Given the description of an element on the screen output the (x, y) to click on. 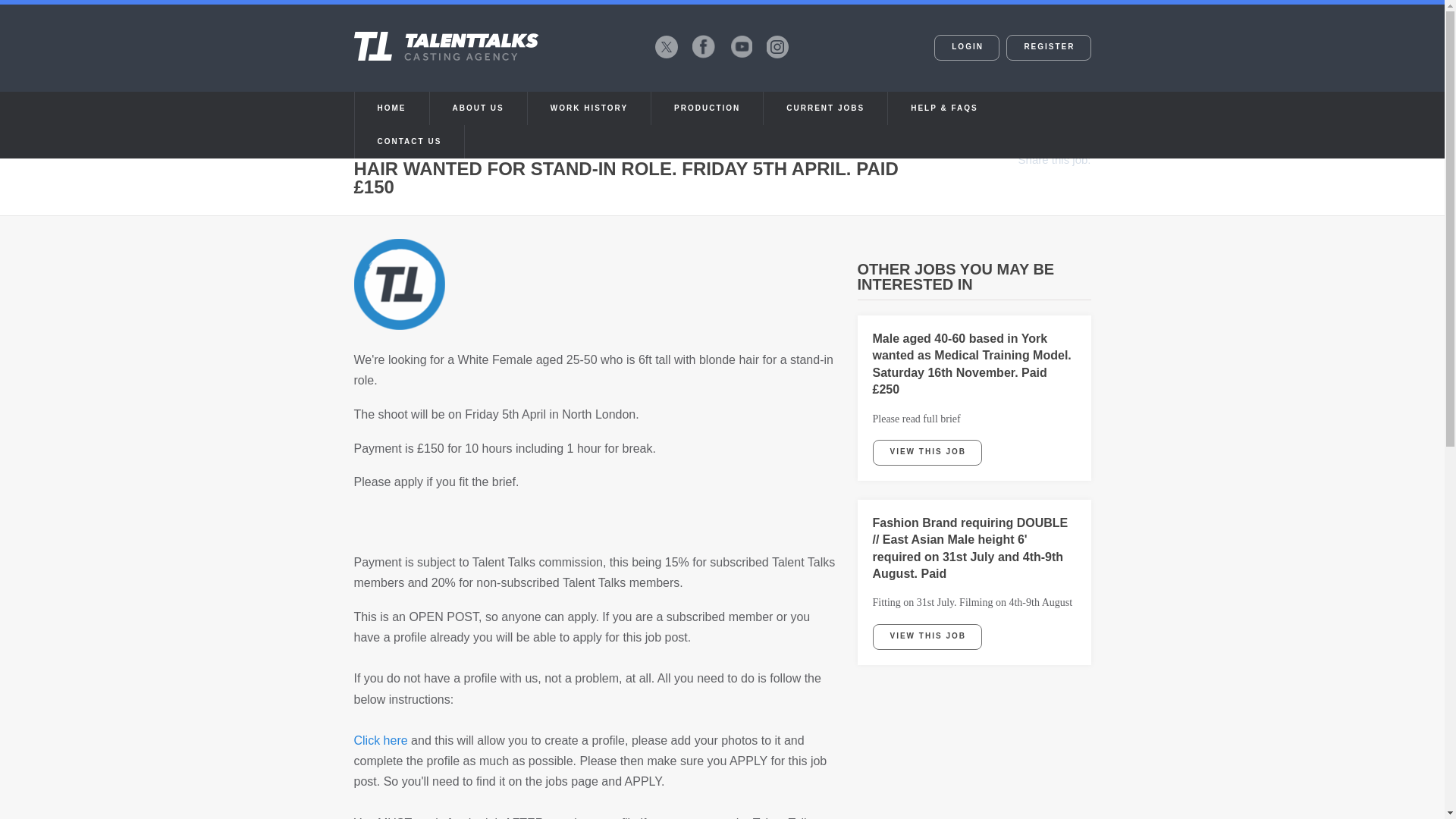
VIEW THIS JOB (926, 636)
CONTACT US (409, 141)
YouTube (740, 46)
Model (398, 284)
ABOUT US (477, 108)
Instagram (777, 46)
REGISTER (1048, 47)
LOGIN (966, 47)
Follow us on Facebook (702, 46)
Subscribe to our YouTube channel (740, 46)
Click here (380, 739)
Follow us on instagram (777, 46)
PRODUCTION (706, 108)
Facebook (702, 46)
HOME (392, 108)
